Given the description of an element on the screen output the (x, y) to click on. 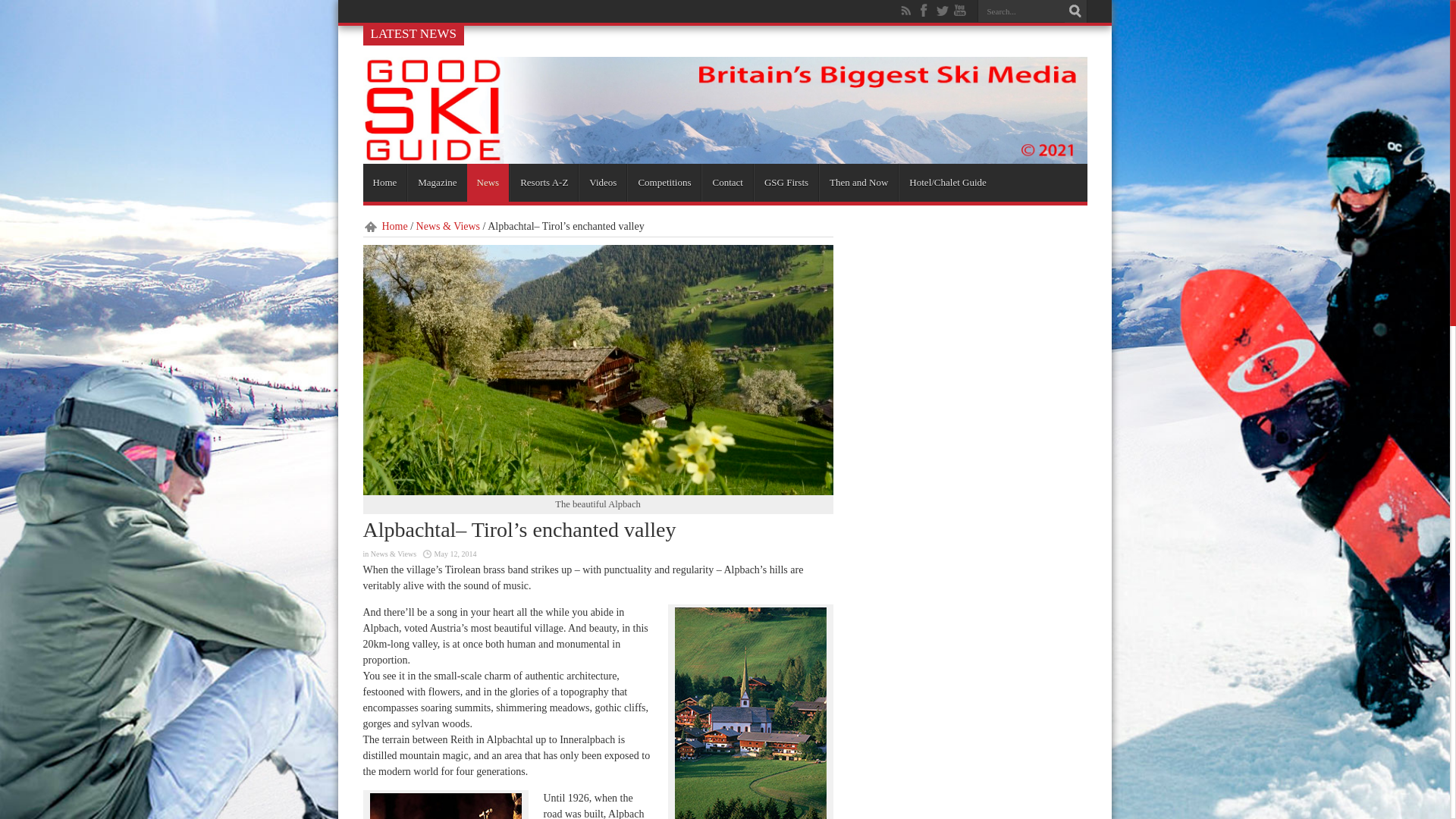
Then and Now (858, 182)
Search... (1020, 11)
Search (1075, 11)
Resorts A-Z (543, 182)
Good Ski Guide (724, 158)
Competitions (663, 182)
News (488, 182)
Search (1075, 11)
GSG Firsts (786, 182)
Contact (726, 182)
